Given the description of an element on the screen output the (x, y) to click on. 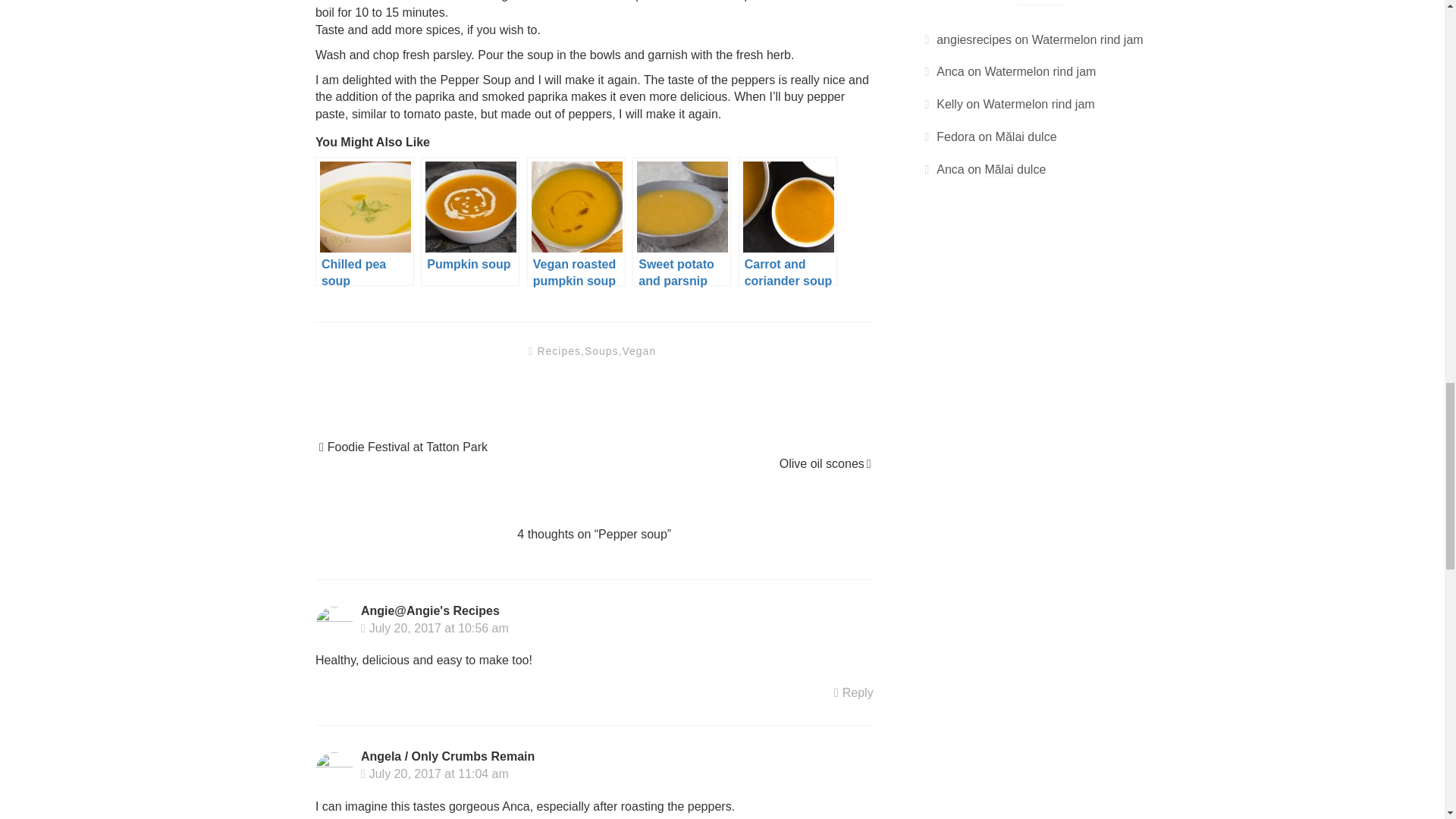
Soups (601, 349)
Vegan (638, 349)
July 20, 2017 at 11:04 am (434, 773)
Recipes (558, 349)
Reply (858, 692)
Olive oil scones (821, 463)
July 20, 2017 at 10:56 am (434, 628)
Foodie Festival at Tatton Park (407, 446)
